Given the description of an element on the screen output the (x, y) to click on. 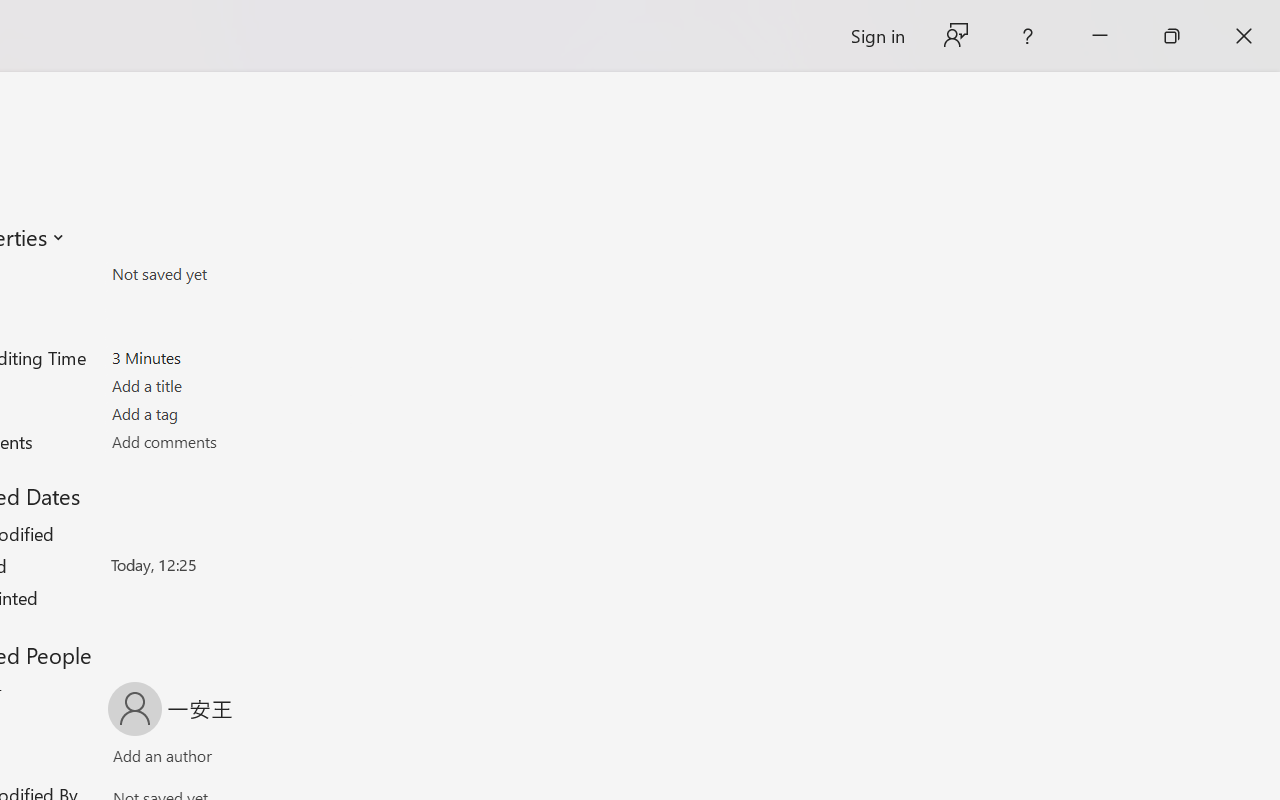
Verify Names (197, 759)
Browse Address Book (291, 760)
Words (228, 330)
Tags (228, 413)
Title (228, 386)
Pages (228, 301)
Add an author (142, 759)
Total Editing Time (228, 357)
